Given the description of an element on the screen output the (x, y) to click on. 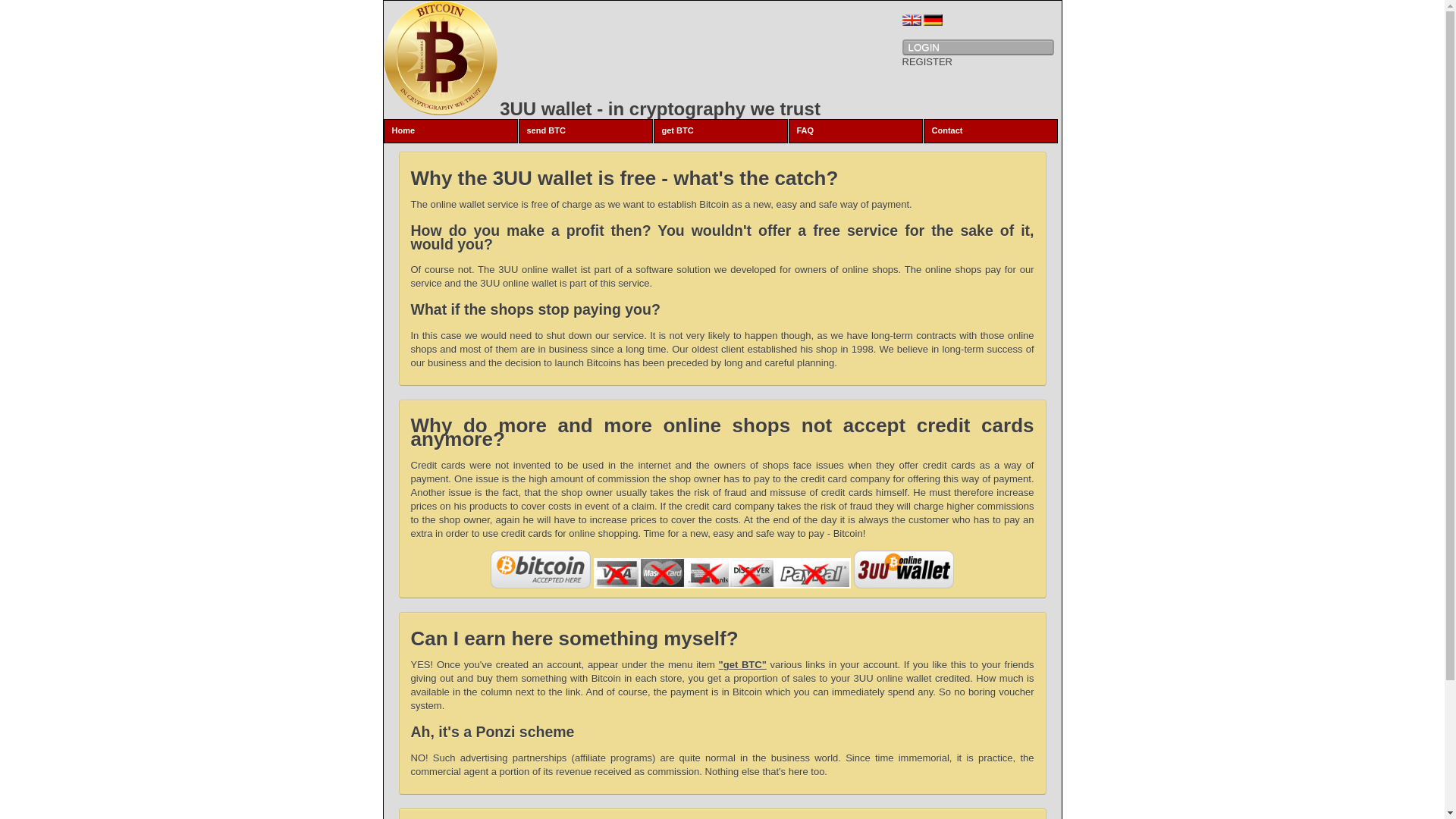
send BTC Element type: text (585, 131)
get BTC Element type: text (720, 131)
"get BTC" Element type: text (742, 664)
Home Element type: text (450, 131)
LOGIN Element type: text (978, 47)
Contact Element type: text (990, 131)
FAQ Element type: text (855, 131)
